Given the description of an element on the screen output the (x, y) to click on. 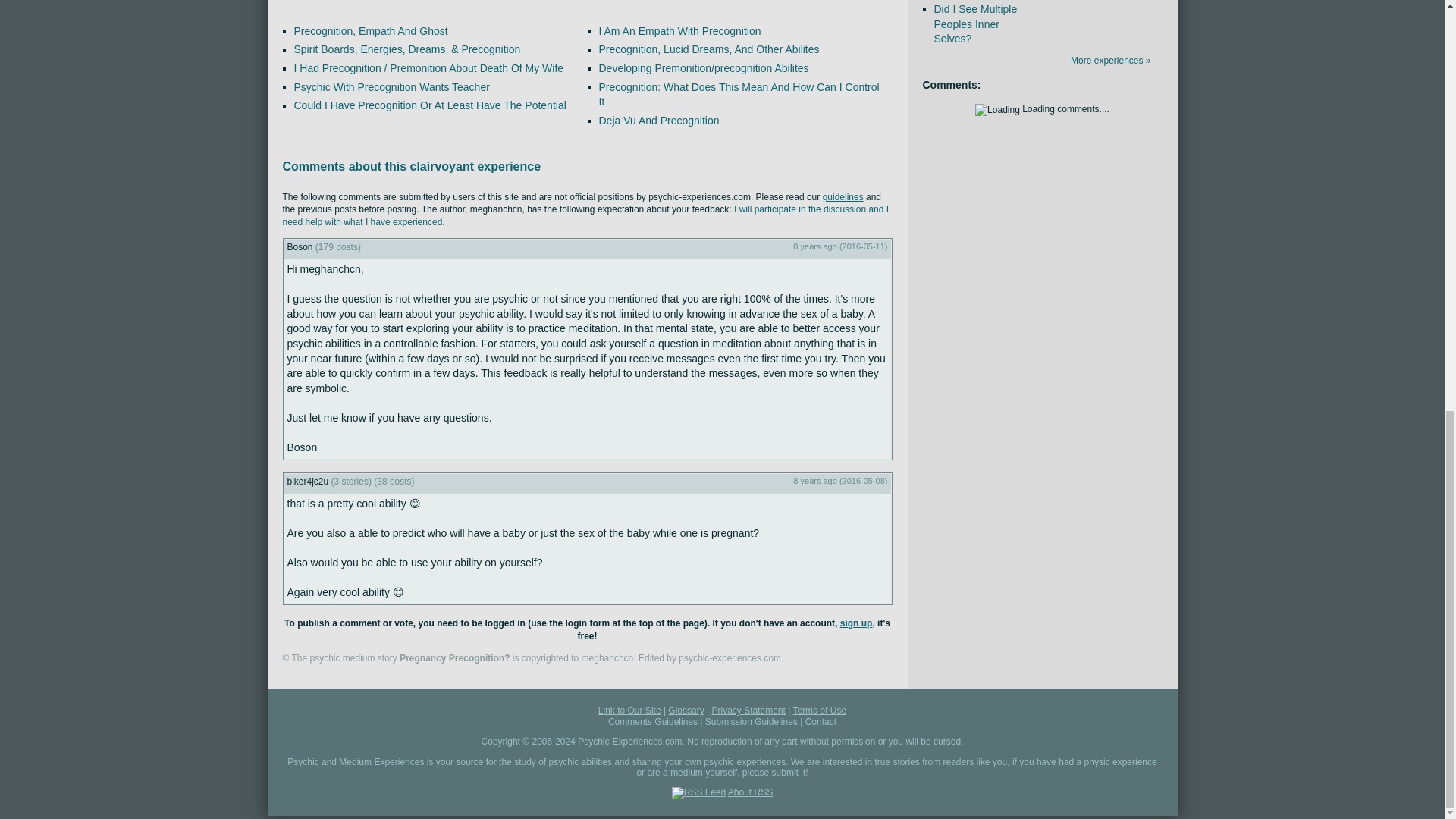
Precognition, Lucid Dreams, And Other Abilites (708, 49)
Could I Have Precognition Or At Least Have The Potential (430, 105)
I Am An Empath With Precognition (679, 30)
Psychic With Precognition Wants Teacher (391, 86)
Precognition, Empath And Ghost (371, 30)
Precognition: What Does This Mean And How Can I Control It (738, 93)
